Given the description of an element on the screen output the (x, y) to click on. 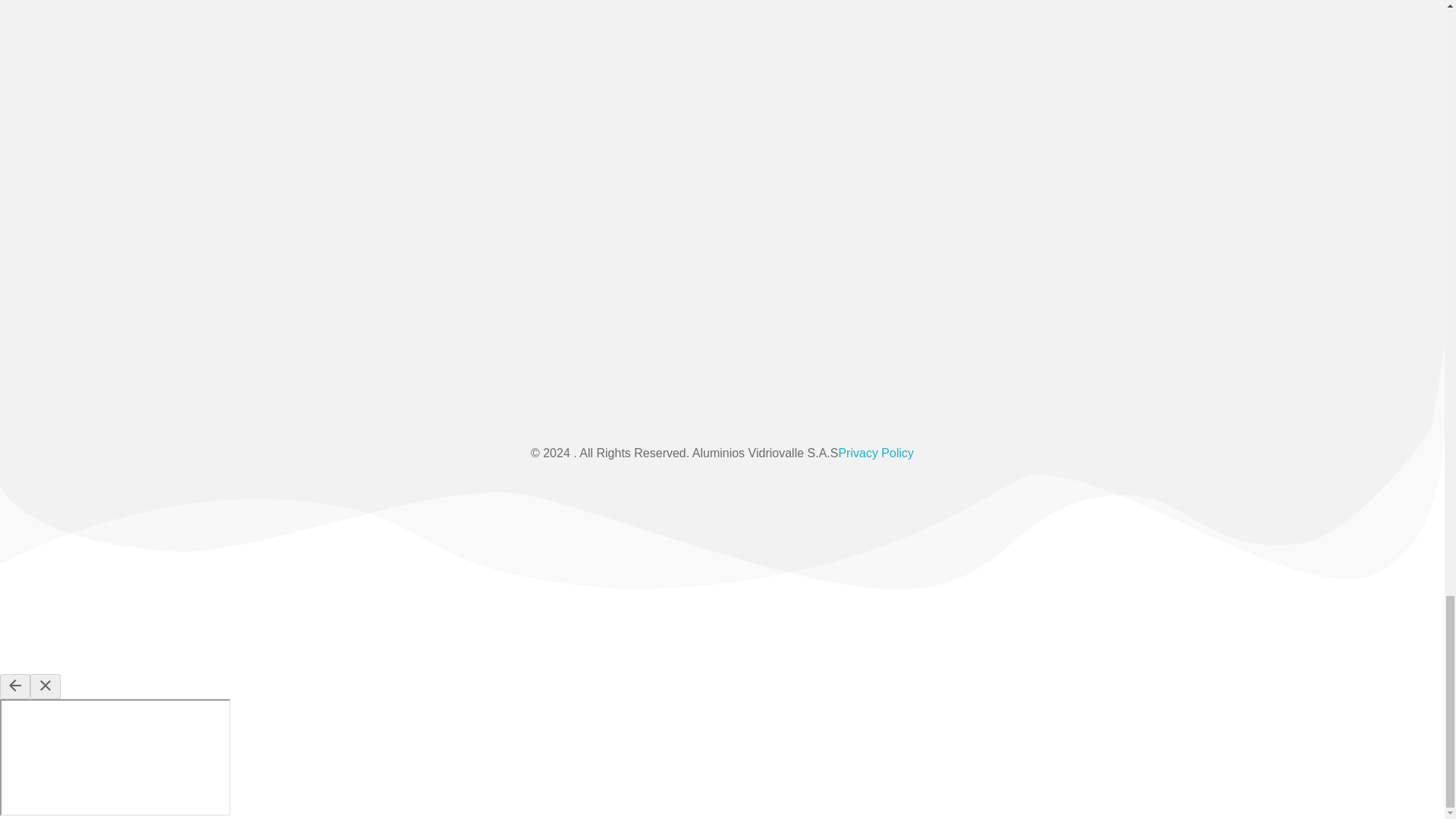
SUBMIT (1253, 281)
Privacy Policy (876, 452)
